Given the description of an element on the screen output the (x, y) to click on. 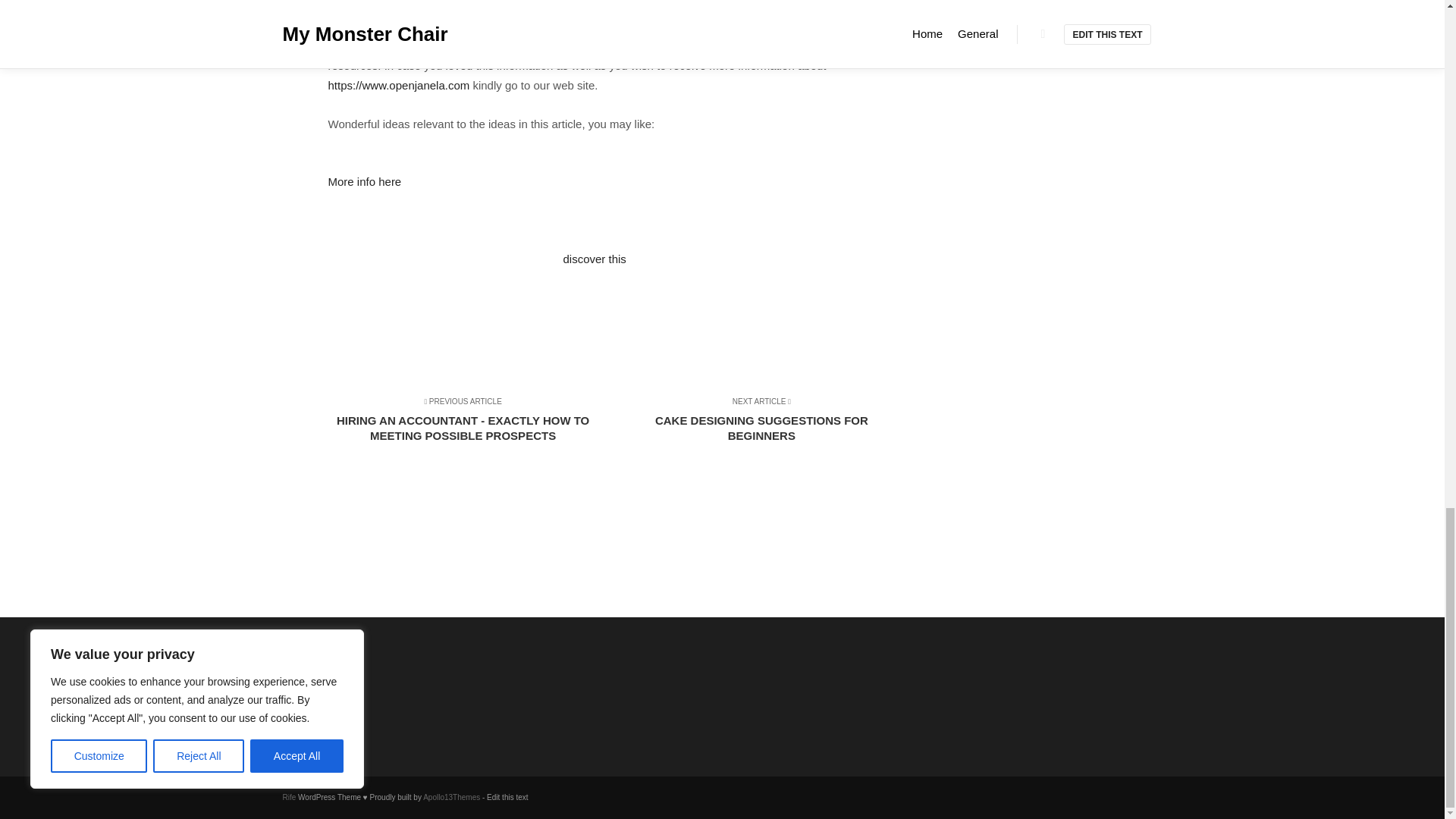
discover this (594, 258)
About (360, 683)
More info here (754, 465)
